Given the description of an element on the screen output the (x, y) to click on. 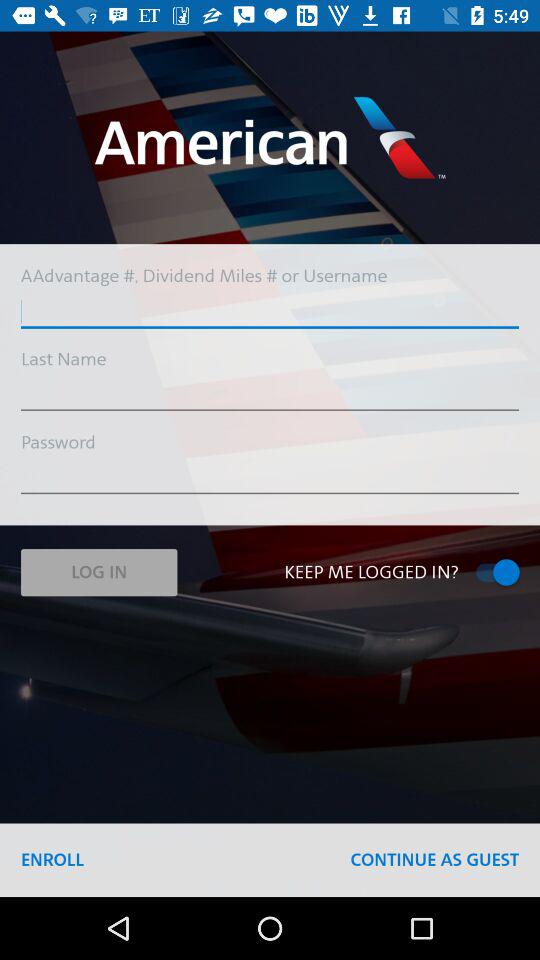
tap the icon next to keep me logged icon (98, 572)
